Given the description of an element on the screen output the (x, y) to click on. 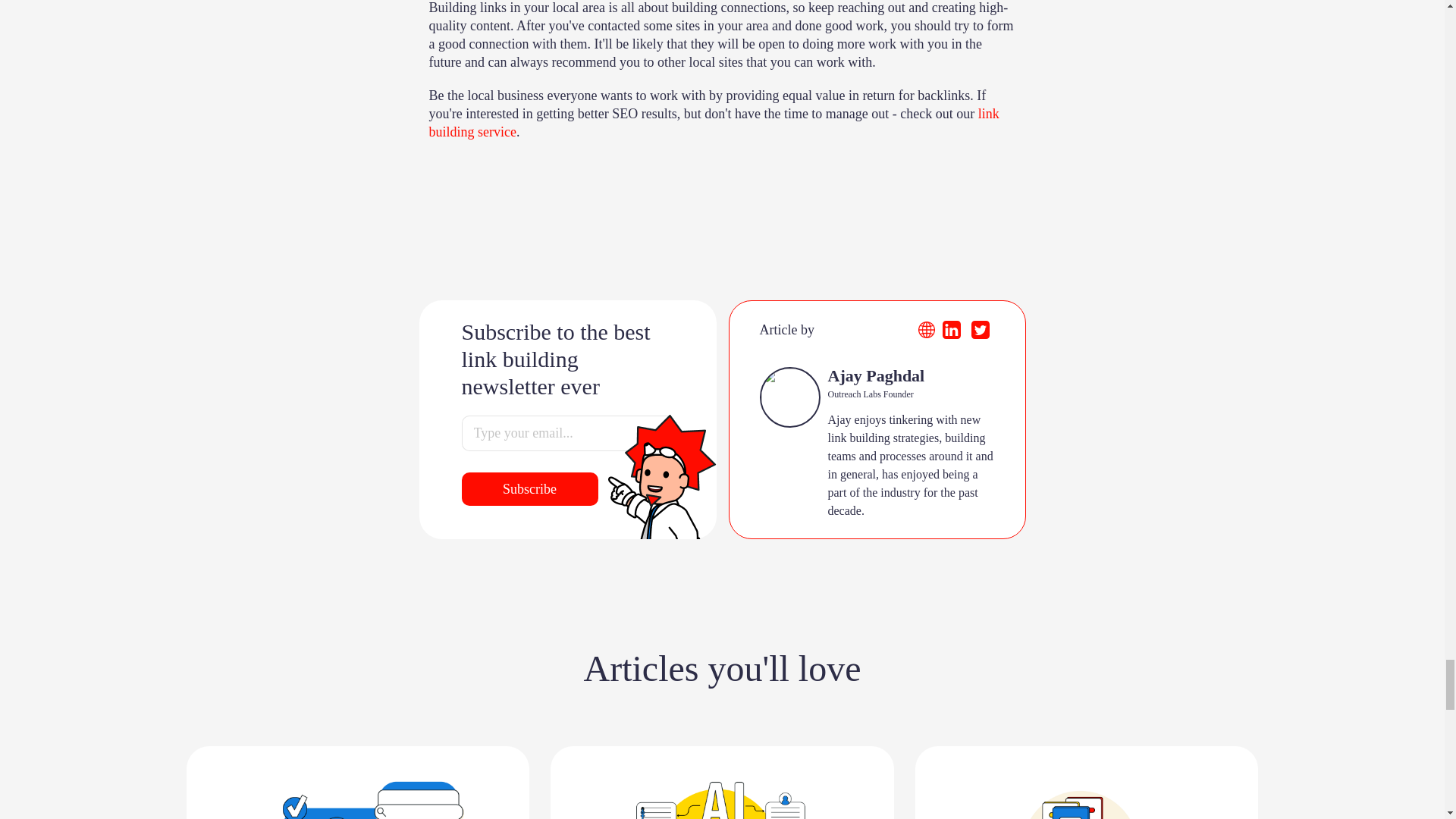
Subscribe (528, 489)
